Given the description of an element on the screen output the (x, y) to click on. 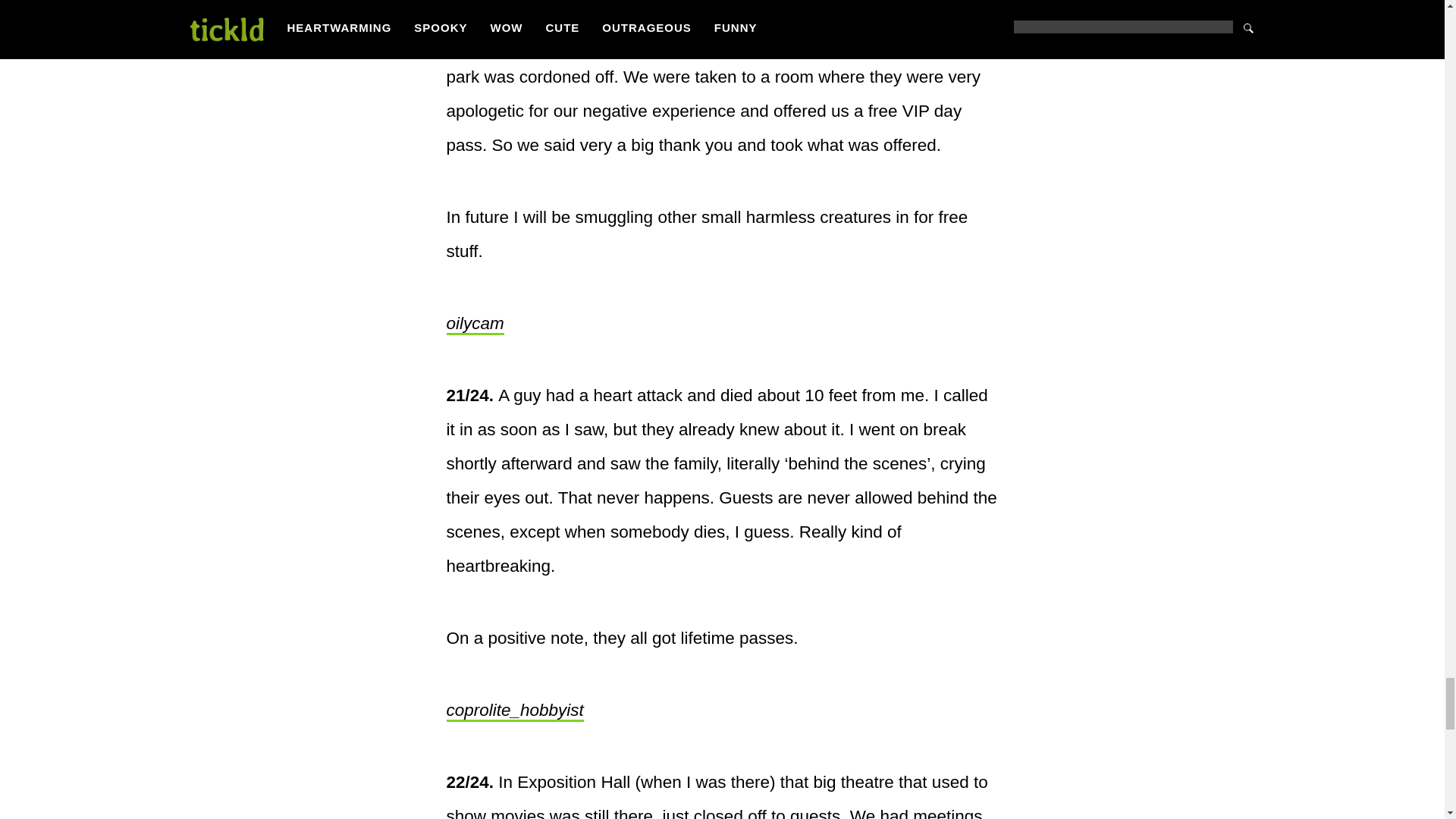
oilycam (474, 323)
